Given the description of an element on the screen output the (x, y) to click on. 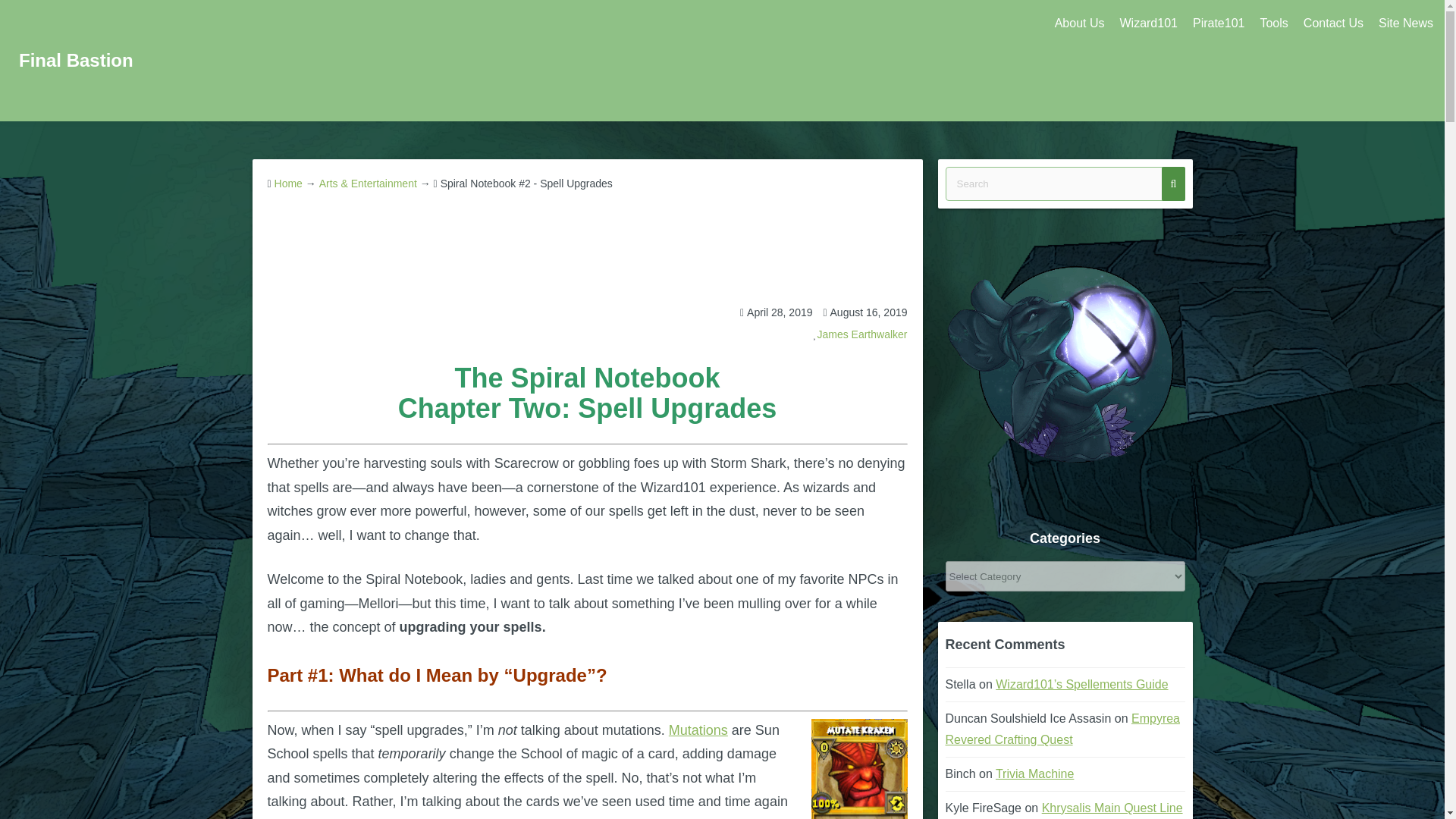
Posts by James Earthwalker (861, 333)
Site News (1406, 23)
Final Bastion (75, 59)
Wizard101 (1148, 23)
Contact Us (1333, 23)
Home (288, 183)
Tools (1273, 23)
About Us (1079, 23)
Pirate101 (1218, 23)
